Given the description of an element on the screen output the (x, y) to click on. 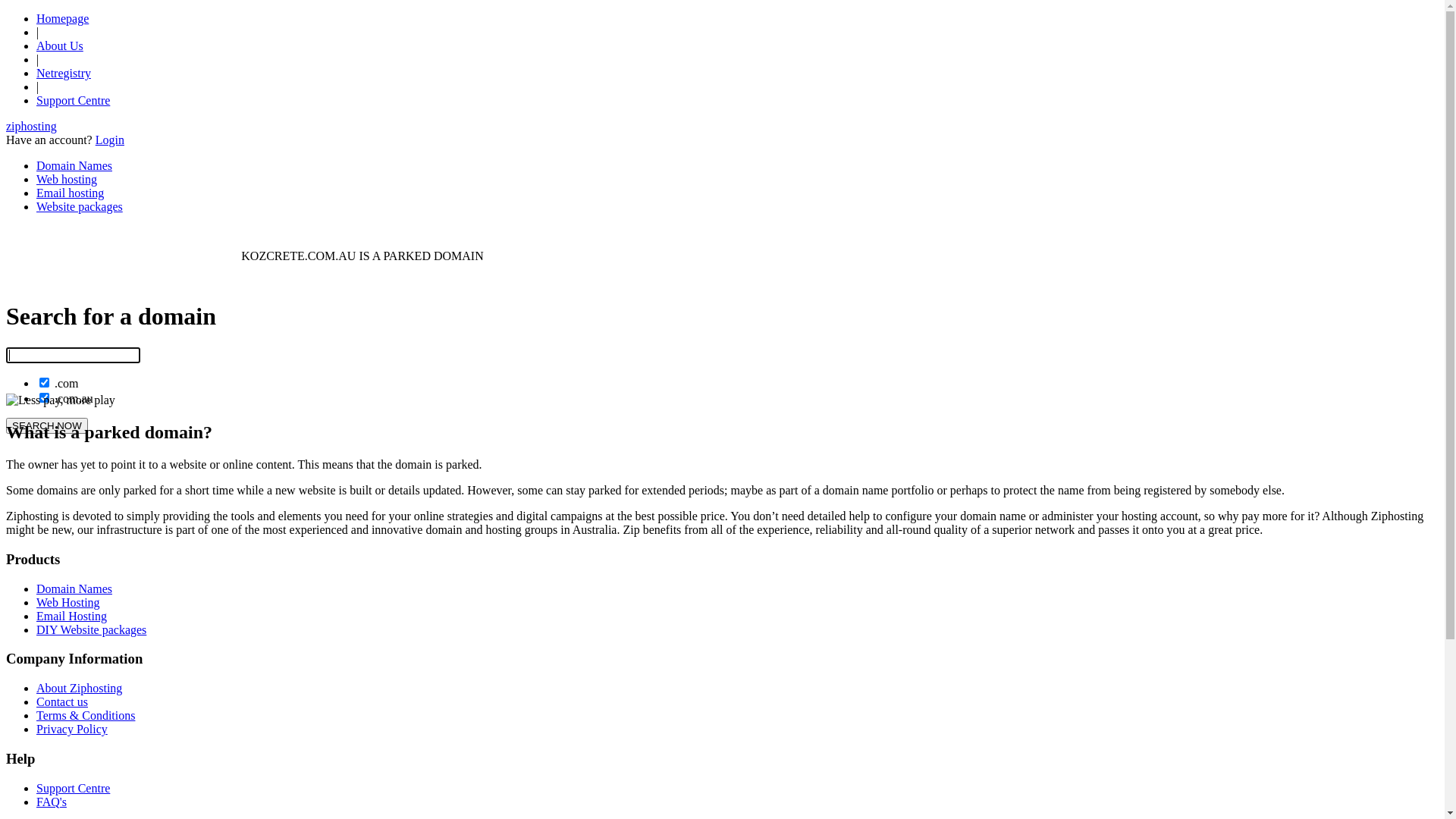
FAQ's Element type: text (51, 801)
Terms & Conditions Element type: text (85, 715)
Website packages Element type: text (79, 206)
Domain Names Element type: text (74, 588)
Web hosting Element type: text (66, 178)
About Ziphosting Element type: text (79, 687)
Login Element type: text (109, 139)
Email Hosting Element type: text (71, 615)
DIY Website packages Element type: text (91, 629)
Email hosting Element type: text (69, 192)
Contact us Element type: text (61, 701)
Homepage Element type: text (62, 18)
SEARCH NOW Element type: text (46, 425)
Netregistry Element type: text (63, 72)
Privacy Policy Element type: text (71, 728)
About Us Element type: text (59, 45)
Support Centre Element type: text (72, 100)
ziphosting Element type: text (31, 125)
Domain Names Element type: text (74, 165)
Support Centre Element type: text (72, 787)
Web Hosting Element type: text (68, 602)
